Given the description of an element on the screen output the (x, y) to click on. 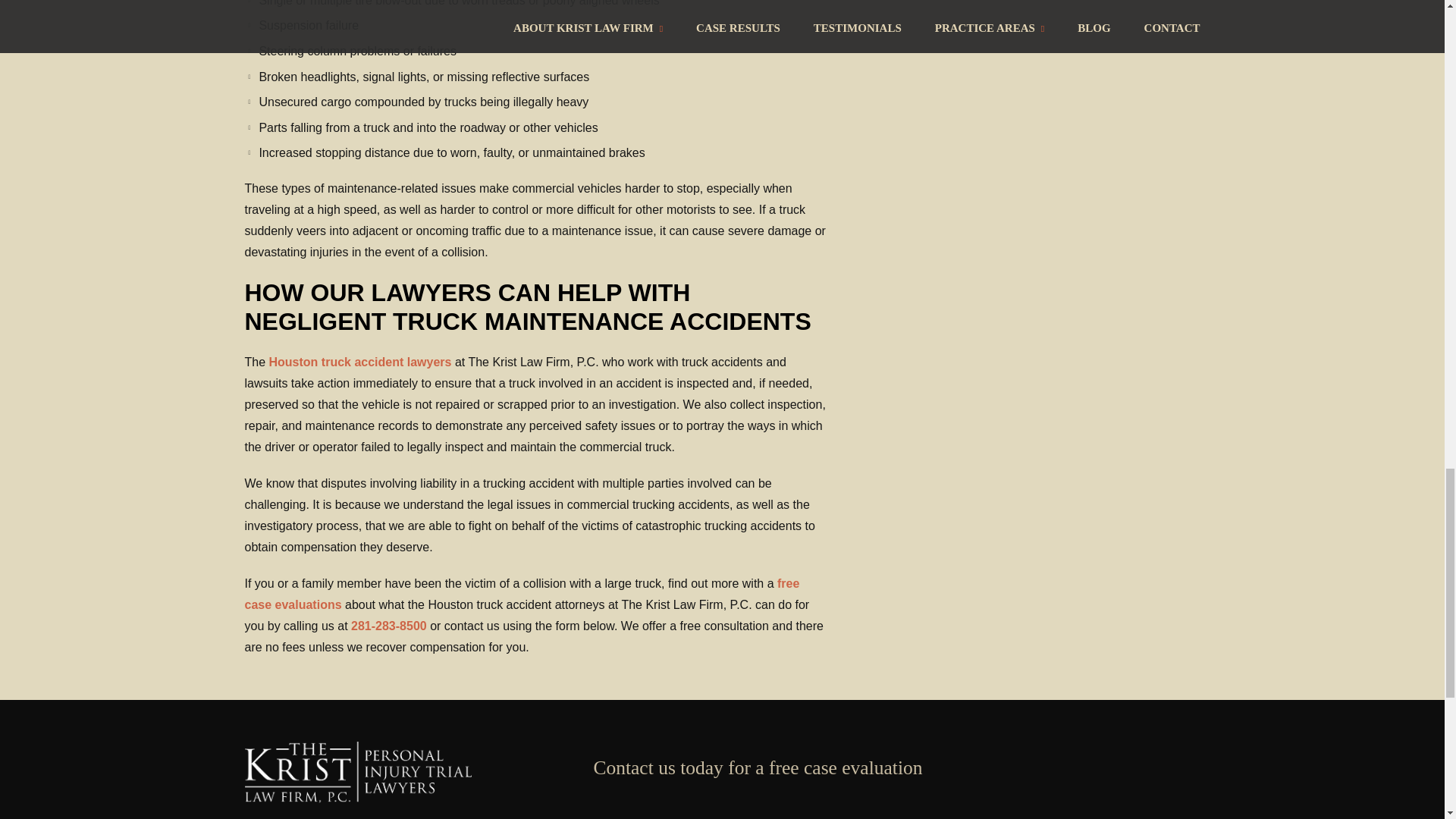
Call Krist Law Today (389, 625)
Krist Law Firm (357, 799)
free personal injury case evaluation (521, 593)
Houston truck accident attorneys (360, 361)
